Given the description of an element on the screen output the (x, y) to click on. 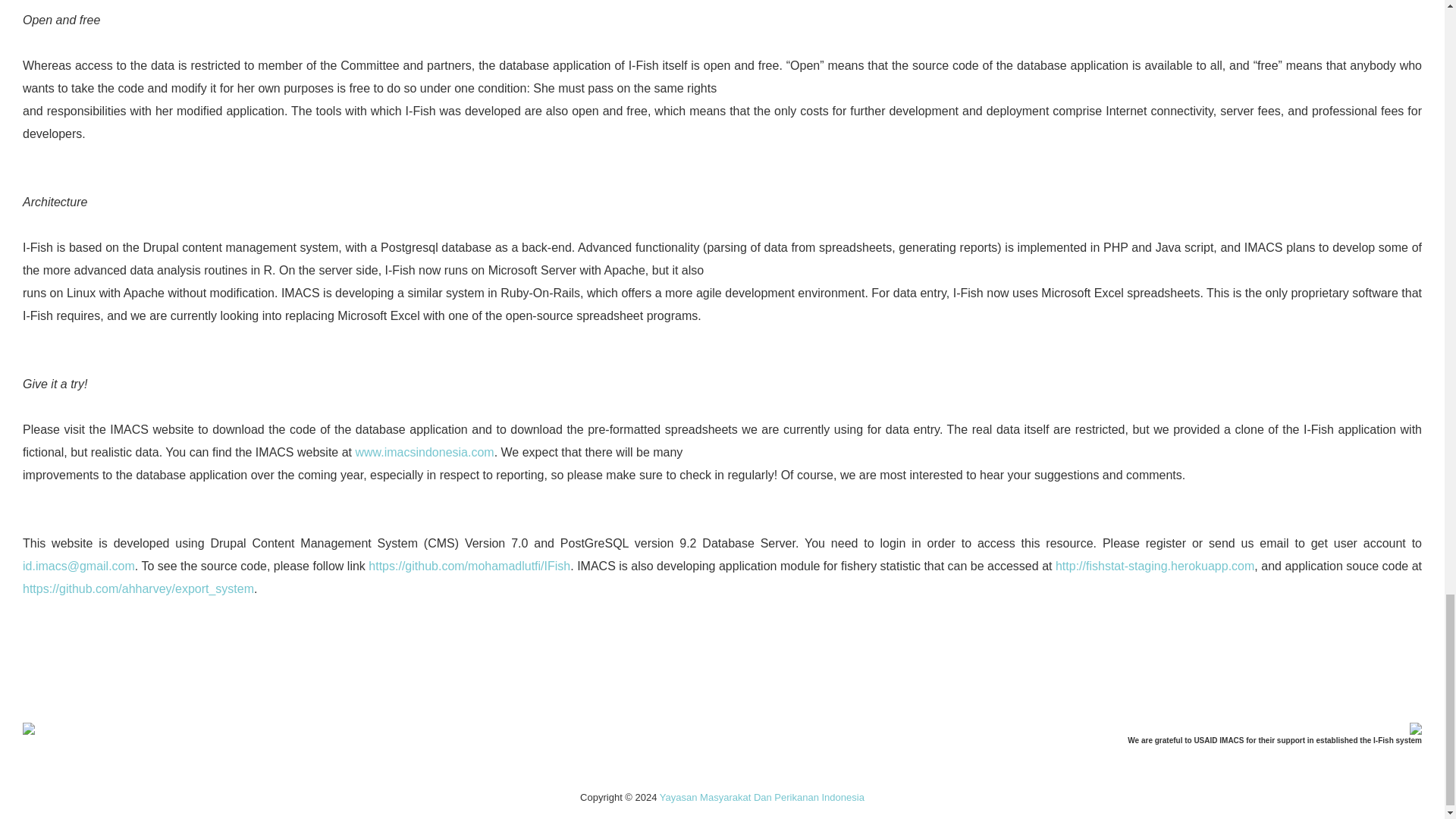
www.imacsindonesia.com (424, 451)
Yayasan Masyarakat Dan Perikanan Indonesia (761, 797)
